Given the description of an element on the screen output the (x, y) to click on. 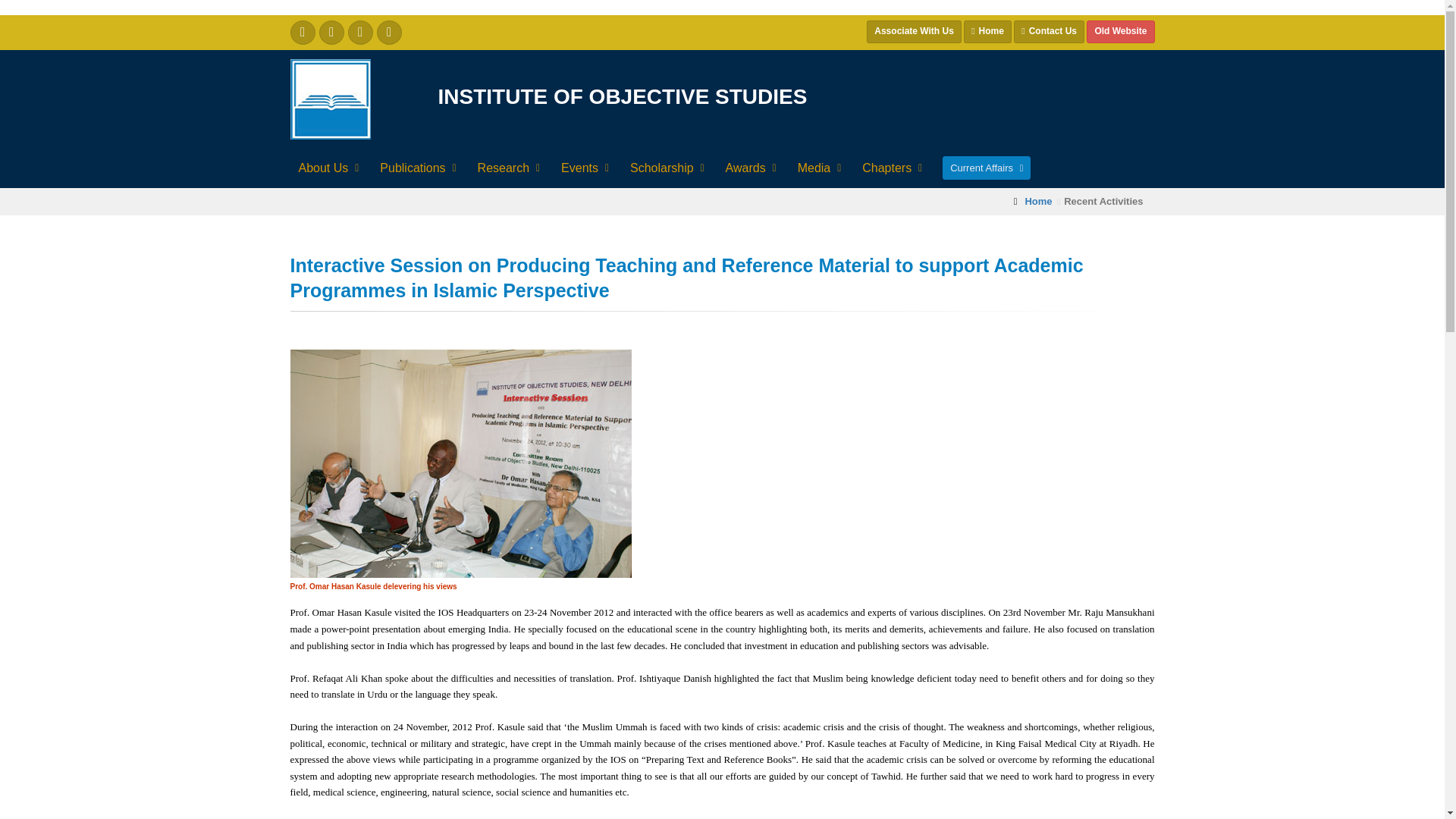
Associate With Us (913, 31)
About Us (326, 168)
Contact Us (1048, 31)
Old Website (1120, 31)
Publications (416, 168)
Home (987, 31)
